Given the description of an element on the screen output the (x, y) to click on. 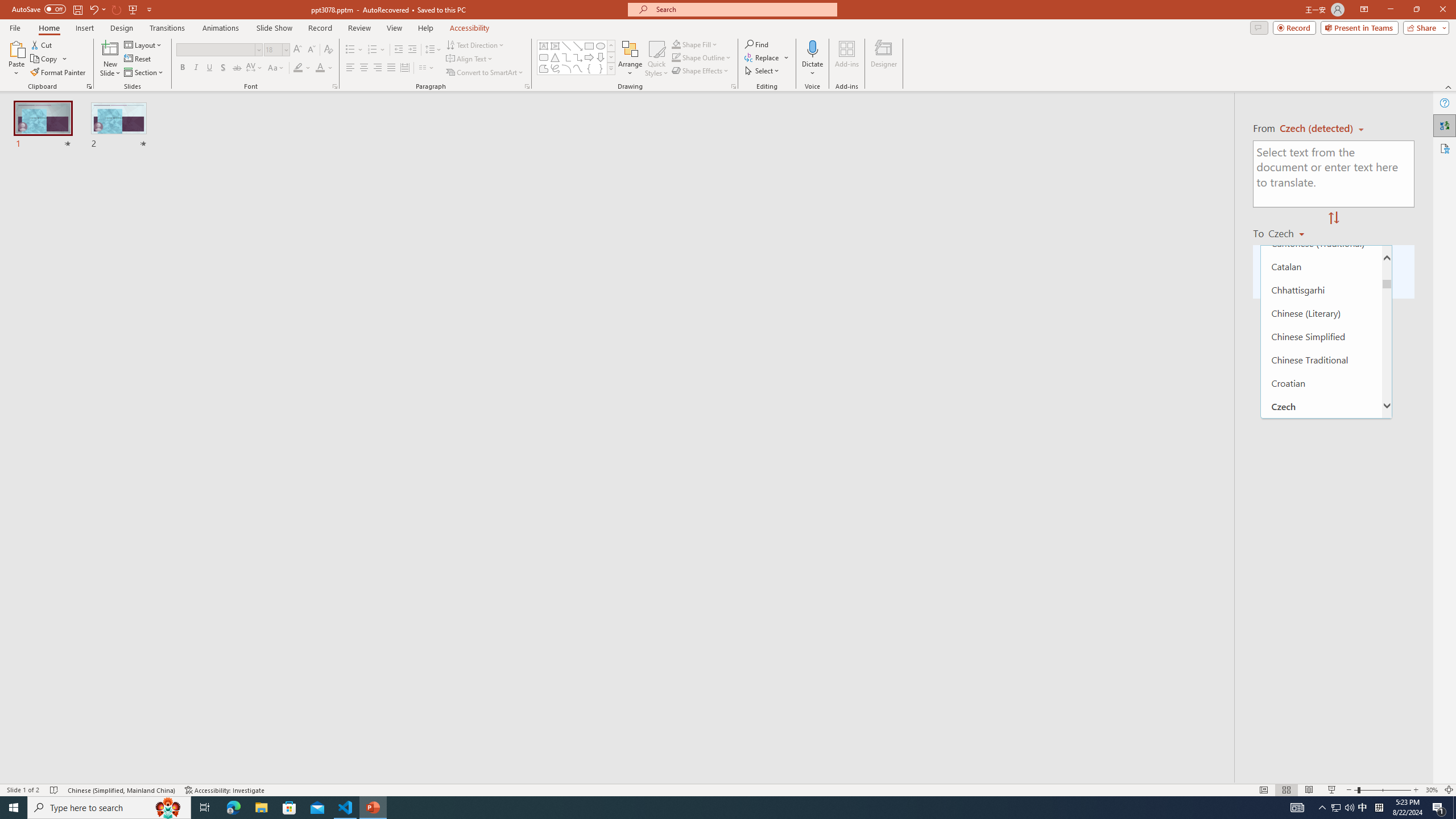
Basque (1320, 126)
